Given the description of an element on the screen output the (x, y) to click on. 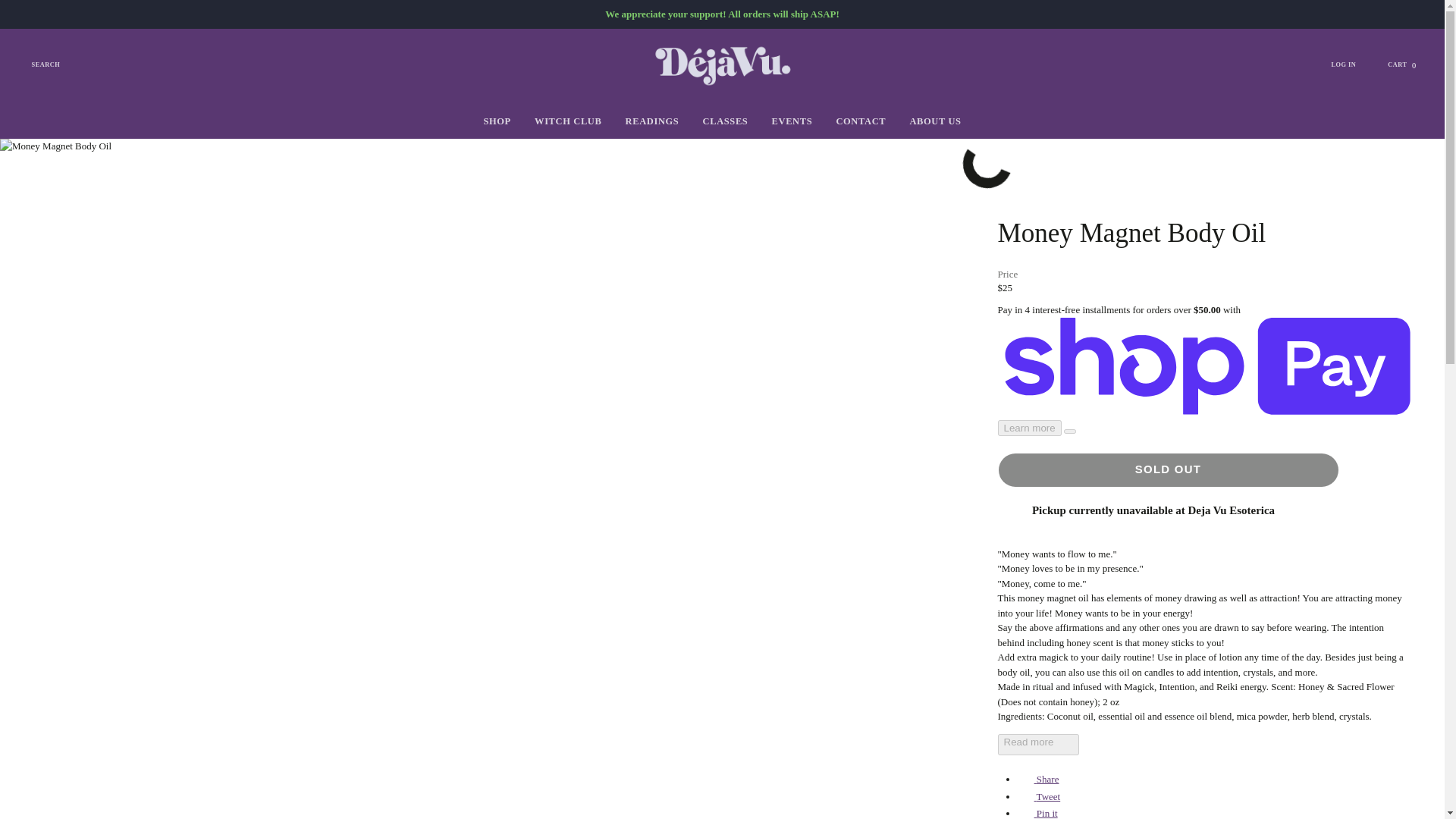
SHOP (496, 121)
LOG IN (1351, 65)
WITCH CLUB (567, 121)
CONTACT (1037, 813)
READINGS (861, 121)
EVENTS (651, 121)
Read more (792, 121)
SEARCH (1038, 744)
